Given the description of an element on the screen output the (x, y) to click on. 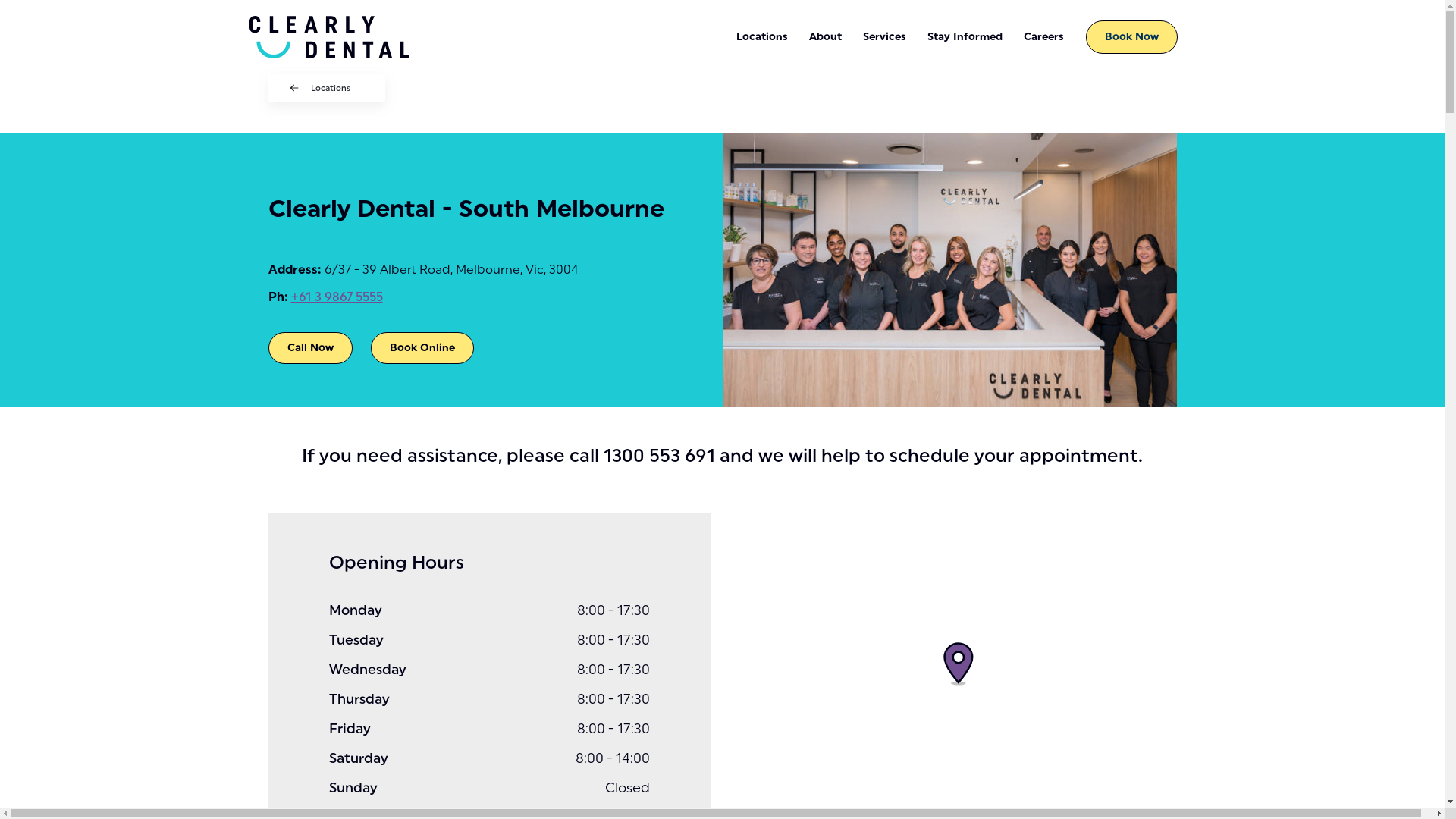
+61 3 9867 5555 Element type: text (336, 296)
